Given the description of an element on the screen output the (x, y) to click on. 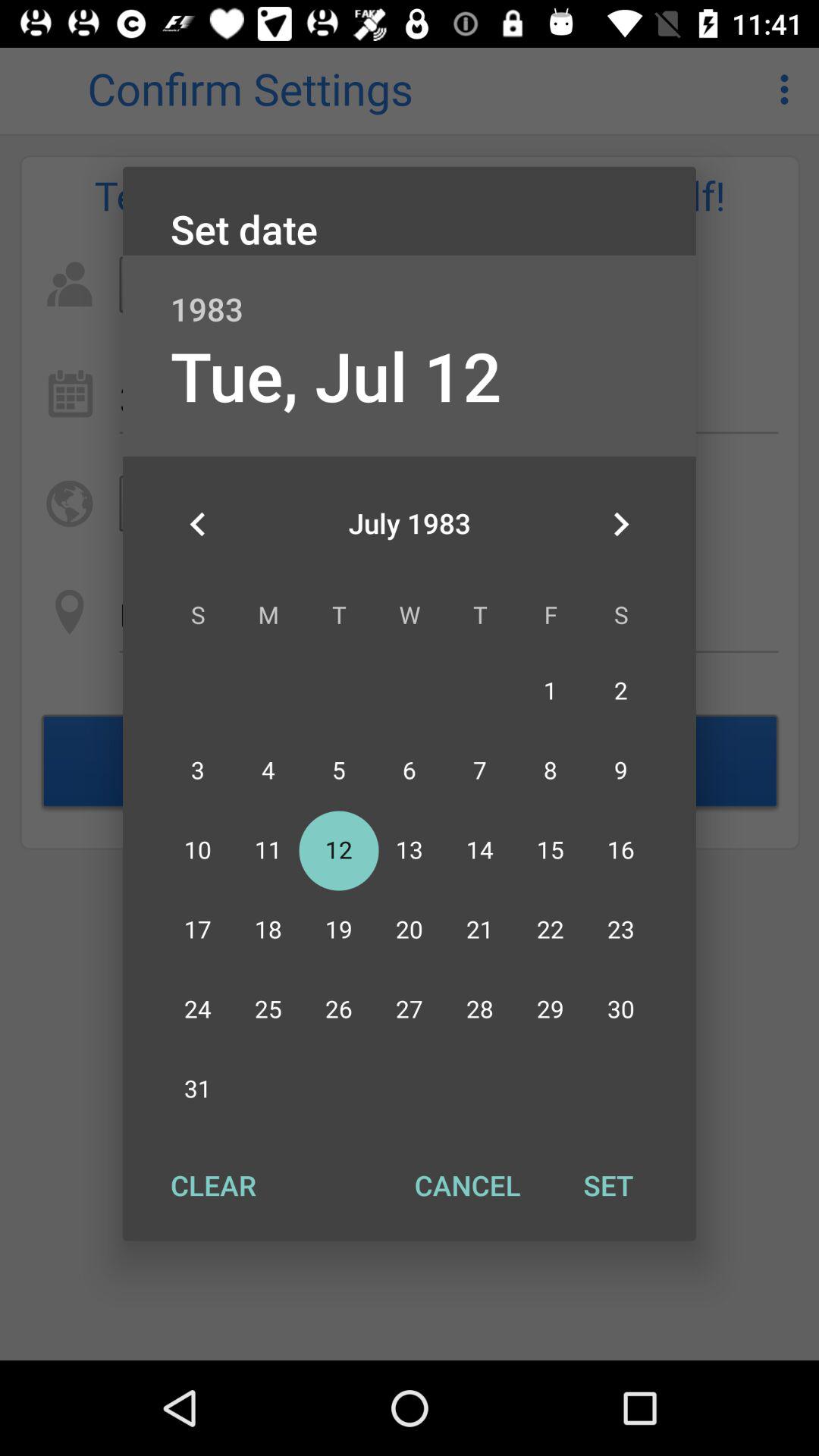
open the icon on the left (197, 524)
